Given the description of an element on the screen output the (x, y) to click on. 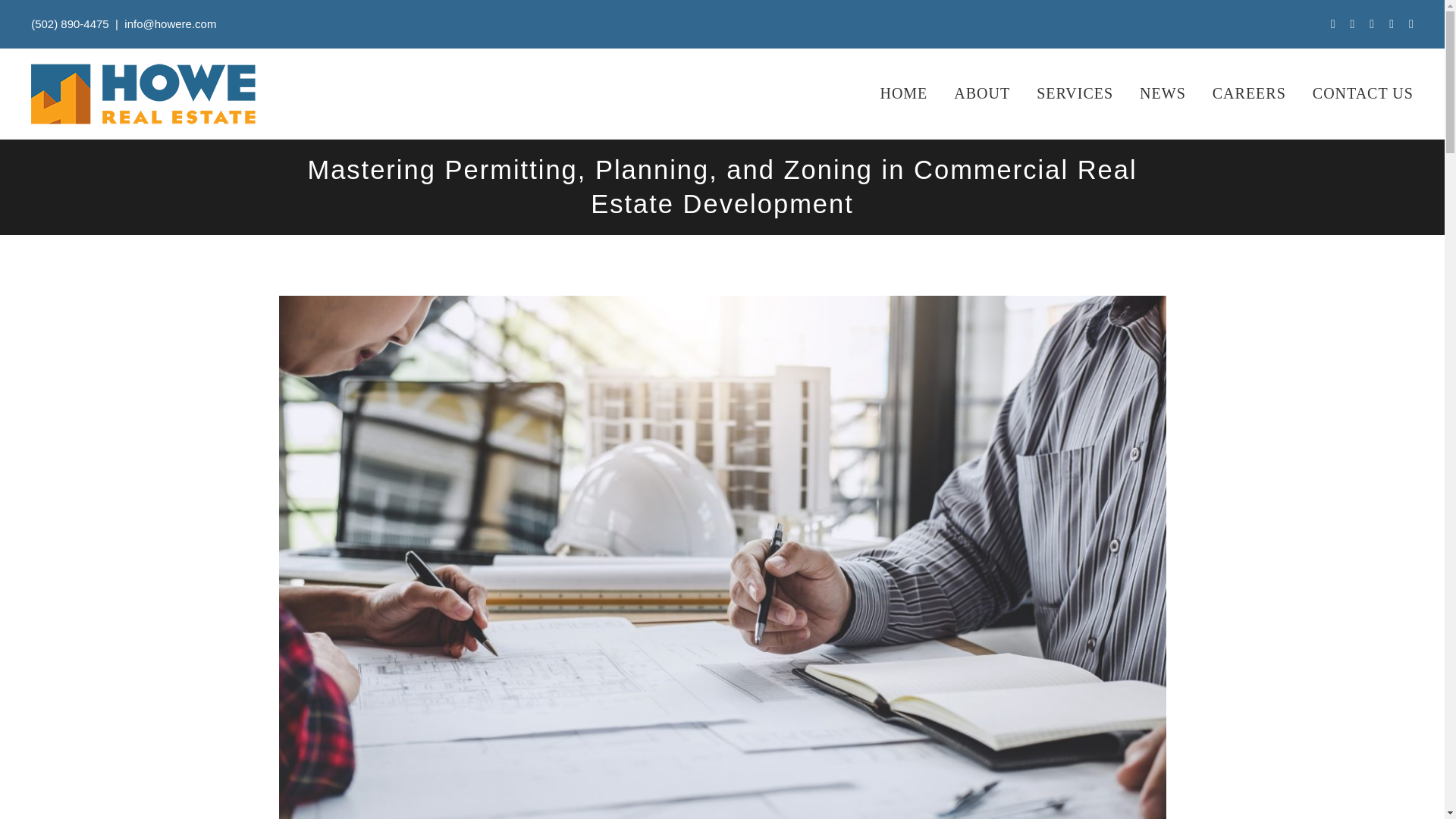
ABOUT (968, 93)
HOME (890, 93)
SERVICES (1061, 93)
NEWS (1149, 93)
CONTACT US (1349, 93)
CAREERS (1235, 93)
